Given the description of an element on the screen output the (x, y) to click on. 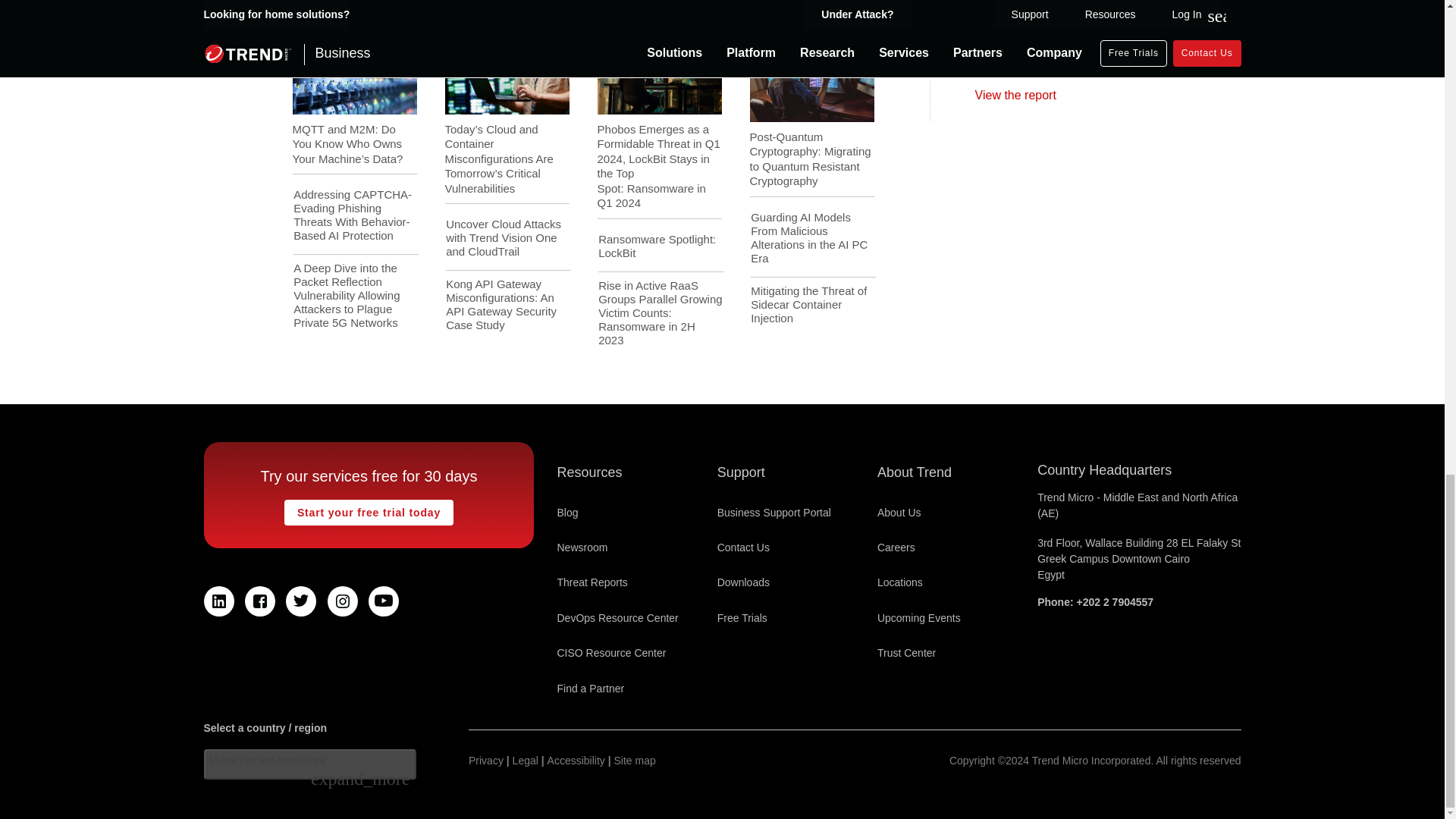
Accessibility (576, 760)
Legal (525, 760)
privacy (485, 760)
Site map (635, 760)
